Given the description of an element on the screen output the (x, y) to click on. 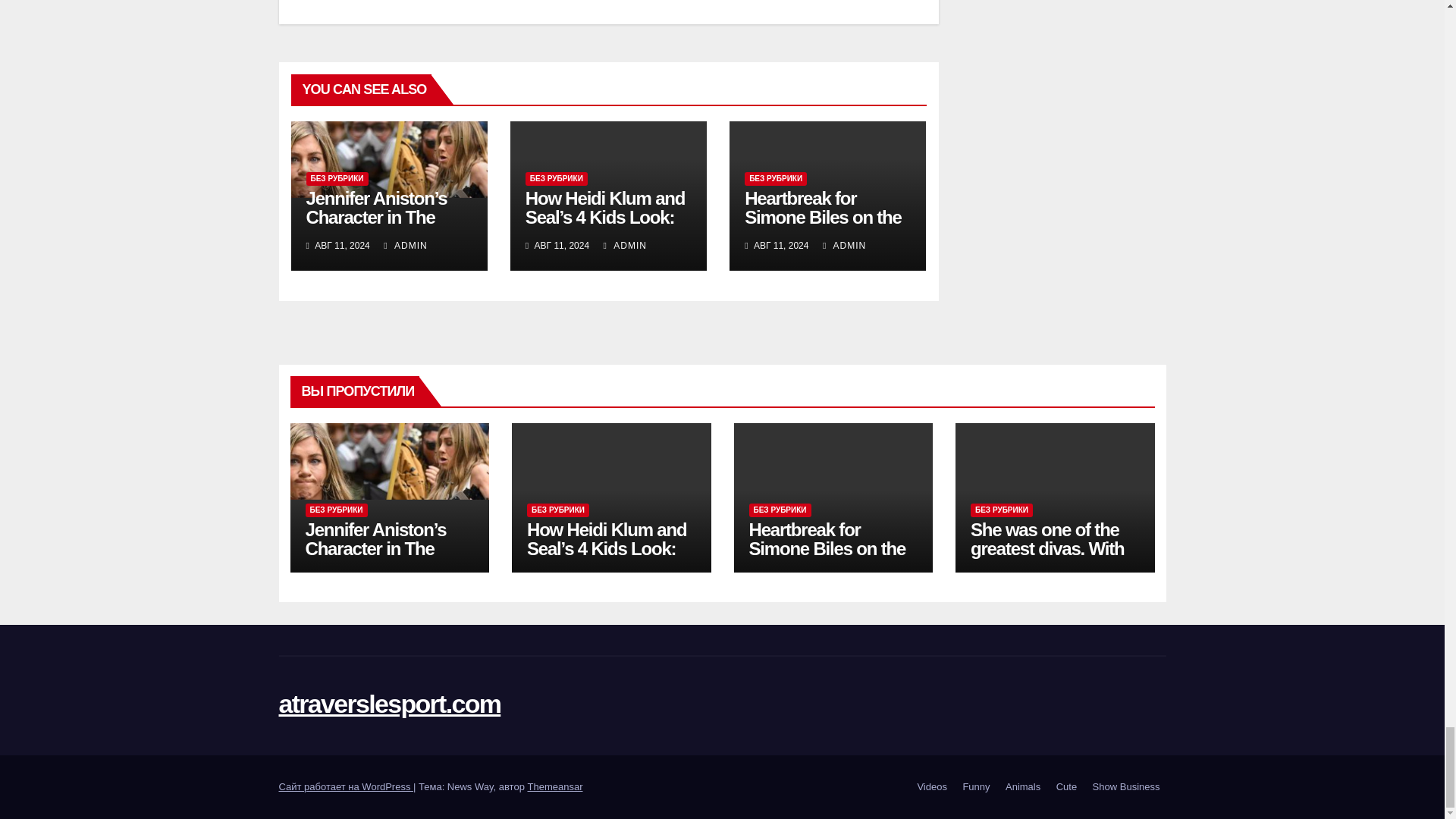
ADMIN (405, 245)
ADMIN (844, 245)
ADMIN (625, 245)
